Given the description of an element on the screen output the (x, y) to click on. 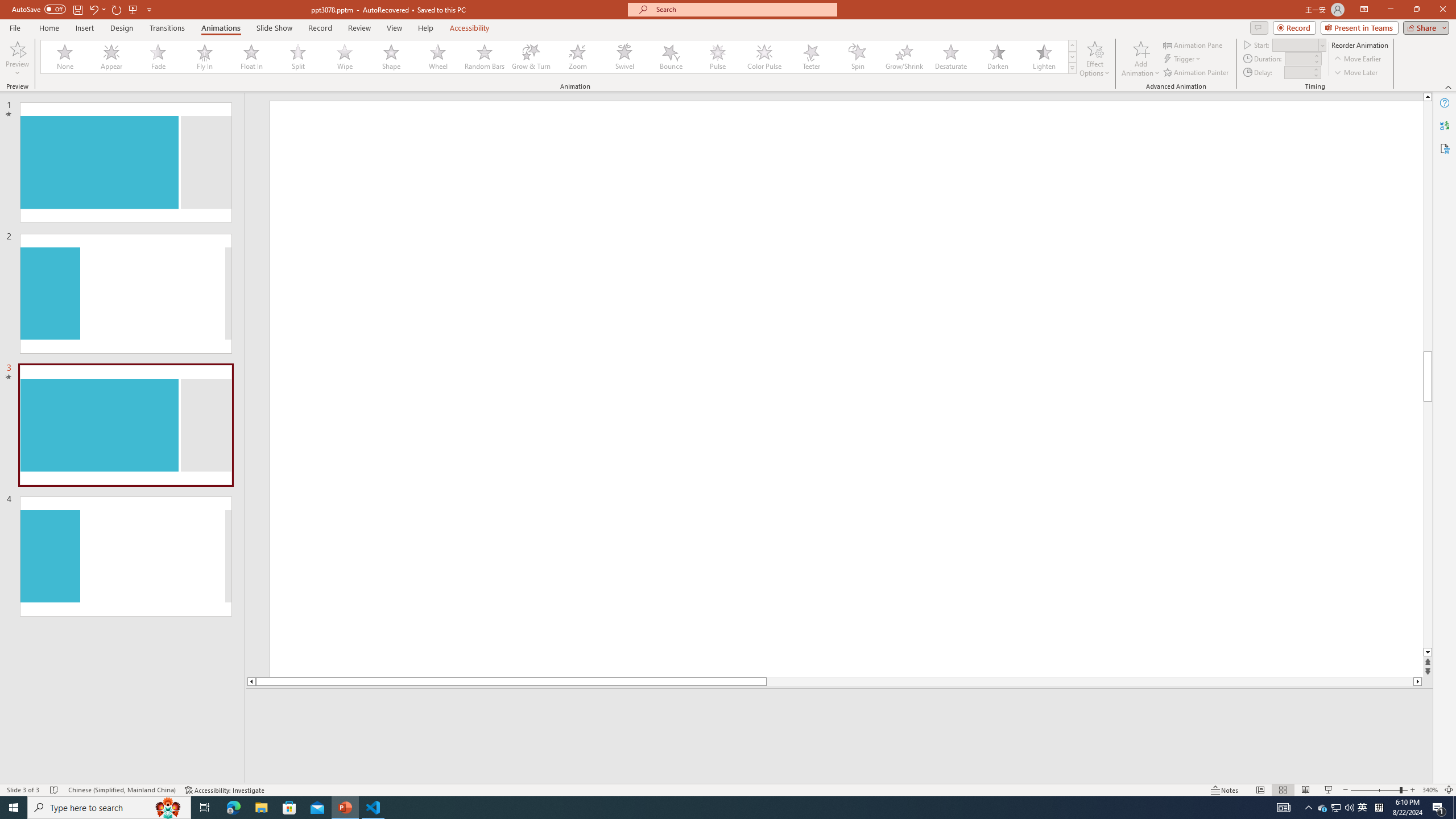
Move Earlier (1357, 58)
Fly In (205, 56)
Zoom 340% (1430, 790)
Move Later (1355, 72)
AutomationID: AnimationGallery (558, 56)
None (65, 56)
Color Pulse (764, 56)
Effect Options (1094, 58)
Grow/Shrink (903, 56)
